Given the description of an element on the screen output the (x, y) to click on. 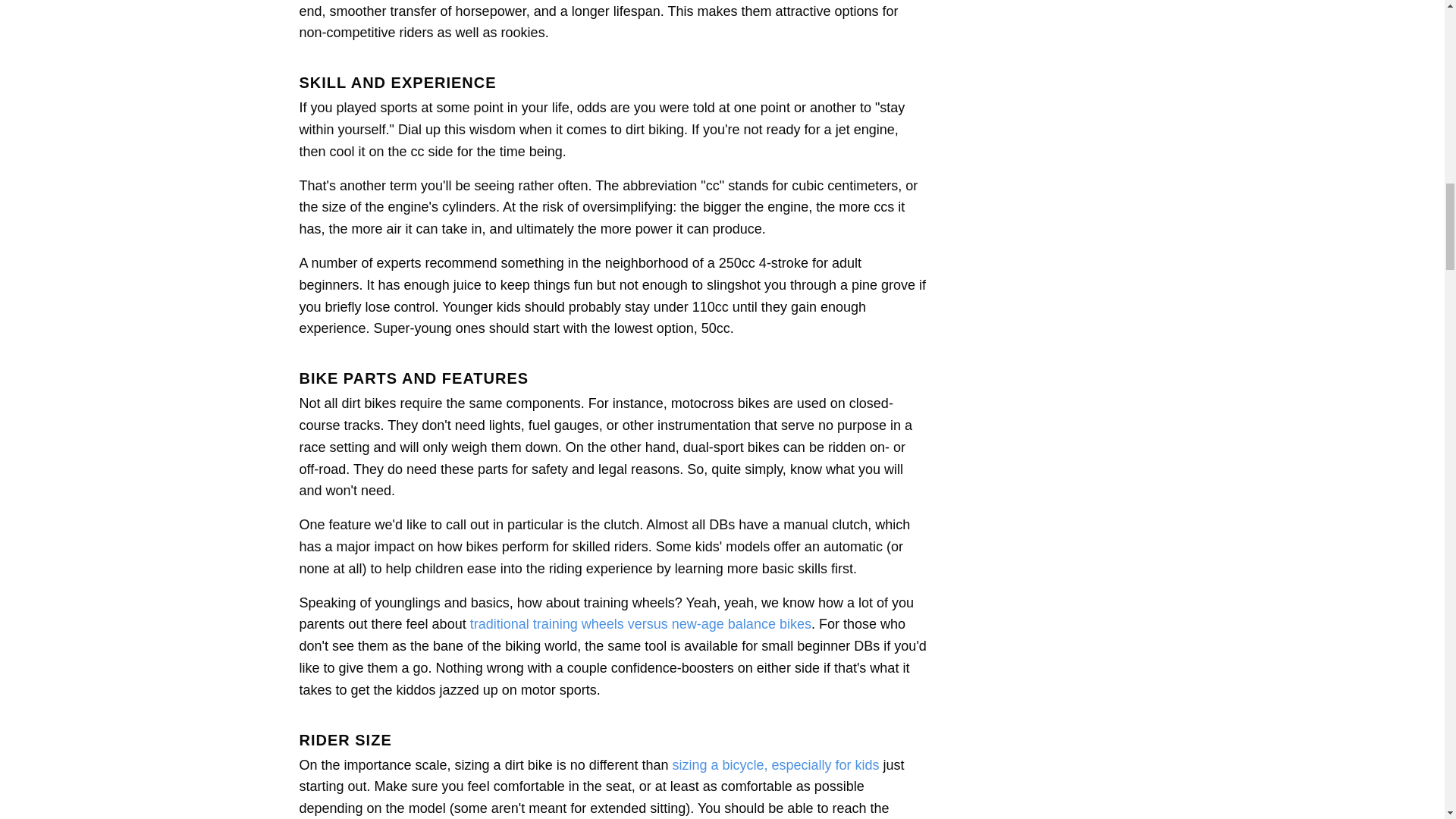
traditional training wheels versus new-age balance bikes (640, 623)
sizing a bicycle, especially for kids (775, 764)
